Given the description of an element on the screen output the (x, y) to click on. 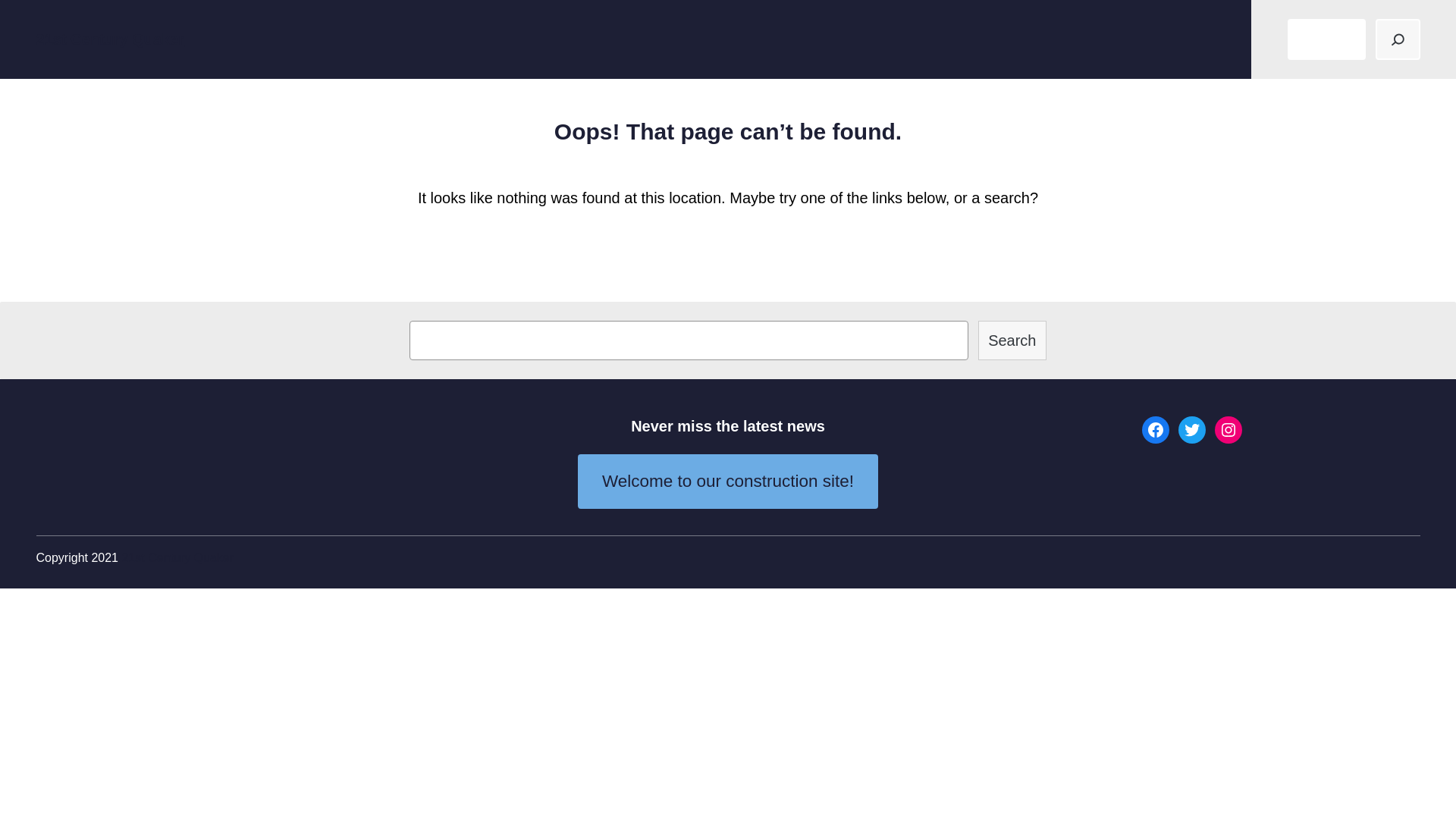
21st Century Quaker Element type: text (110, 39)
Welcome to our construction site! Element type: text (727, 481)
Search Element type: text (1012, 340)
21st Century Quaker Element type: text (177, 557)
